Given the description of an element on the screen output the (x, y) to click on. 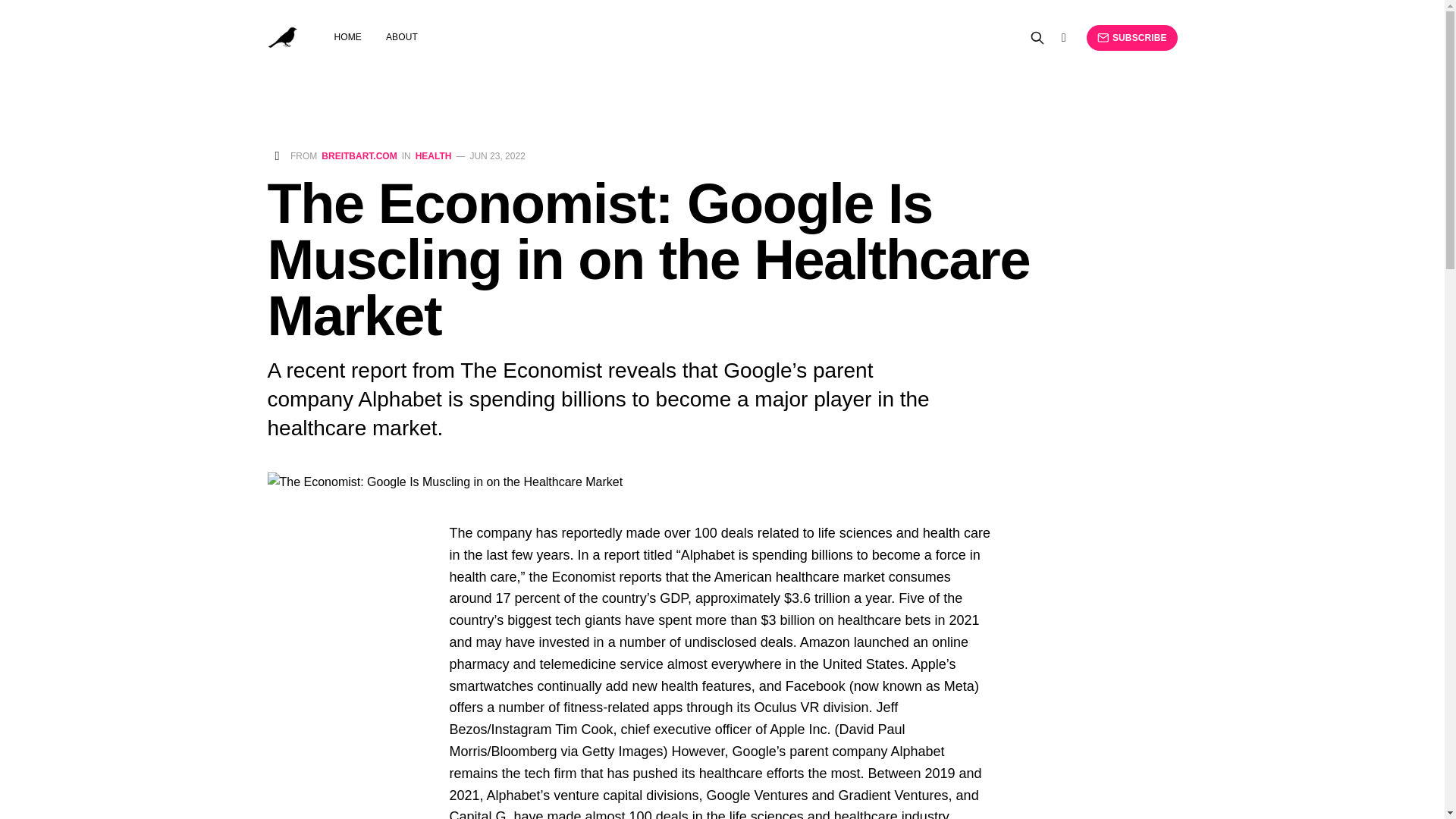
BREITBART.COM (358, 155)
SUBSCRIBE (1131, 37)
ABOUT (401, 36)
HEALTH (432, 155)
HOME (347, 36)
